Given the description of an element on the screen output the (x, y) to click on. 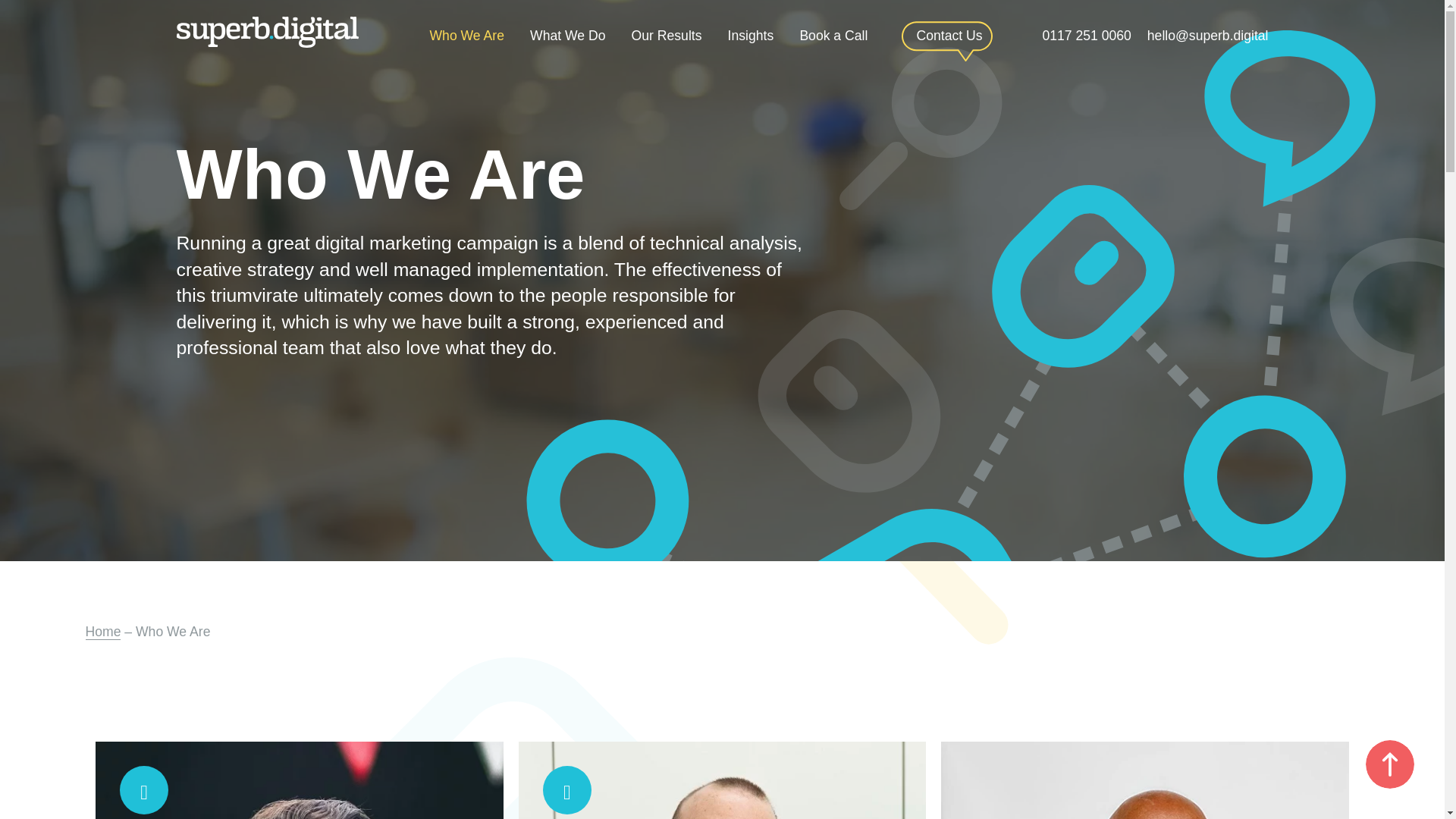
Home (102, 631)
Book a Call (833, 32)
0117 251 0060 (1086, 35)
Telephone Superb Digital (1086, 35)
Contact Us (948, 38)
Scroll to Top (1389, 764)
Insights (750, 32)
Our Results (667, 32)
What We Do (567, 32)
Who We Are (466, 32)
